Given the description of an element on the screen output the (x, y) to click on. 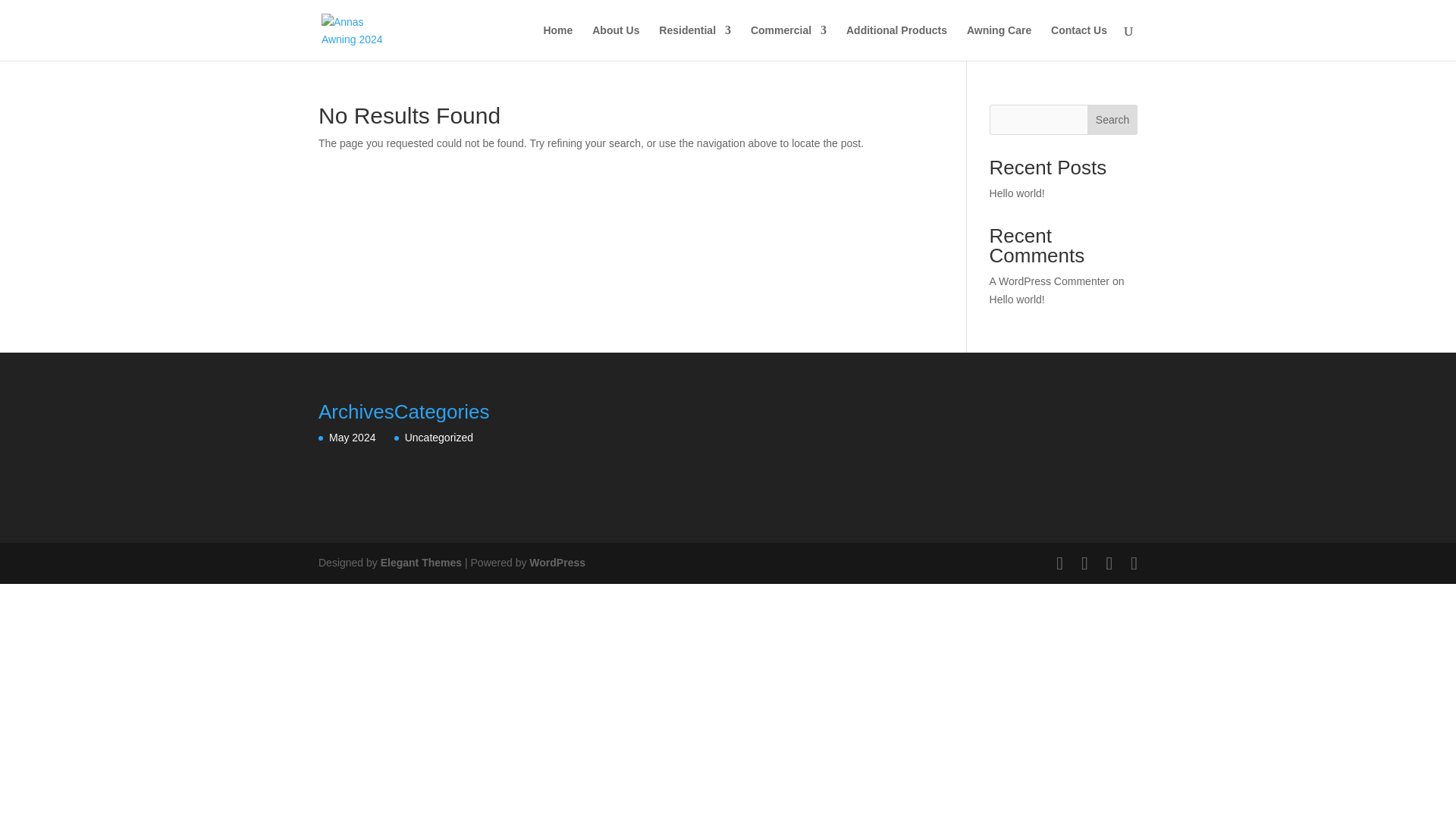
Uncategorized (438, 437)
Premium WordPress Themes (420, 562)
Contact Us (1078, 42)
A WordPress Commenter (1049, 281)
Commercial (789, 42)
Residential (694, 42)
Search (1112, 119)
Additional Products (896, 42)
Elegant Themes (420, 562)
Hello world! (1017, 193)
